Given the description of an element on the screen output the (x, y) to click on. 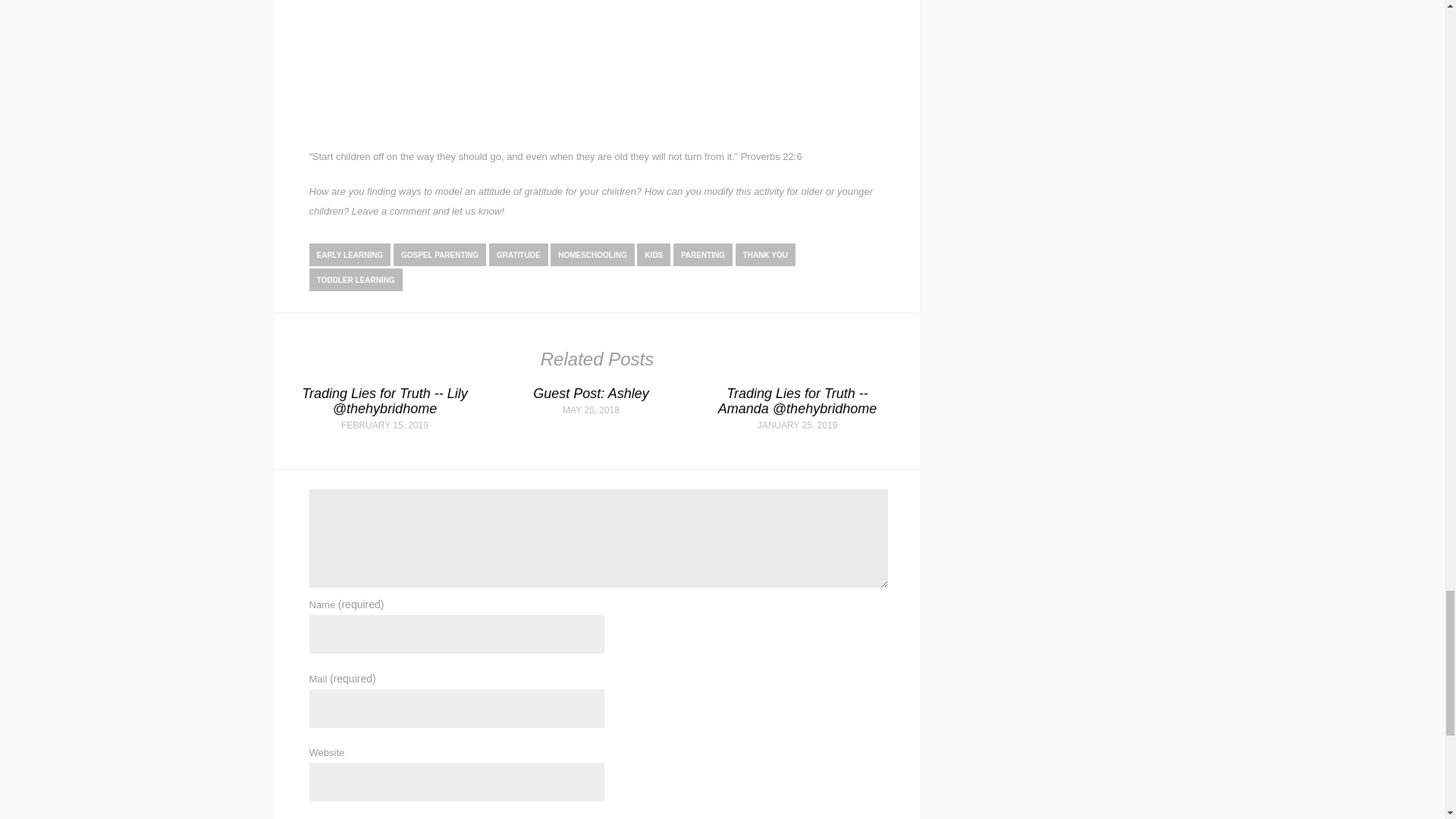
PARENTING (702, 254)
Guest Post: Ashley (589, 393)
GRATITUDE (518, 254)
GOSPEL PARENTING (439, 254)
TODDLER LEARNING (355, 279)
KIDS (653, 254)
Permanent (384, 400)
Permanent (589, 393)
FEBRUARY 15, 2019 (385, 425)
JANUARY 25, 2019 (797, 425)
THANK YOU (764, 254)
HOMESCHOOLING (592, 254)
MAY 25, 2018 (591, 409)
EARLY LEARNING (349, 254)
Permanent (796, 400)
